Given the description of an element on the screen output the (x, y) to click on. 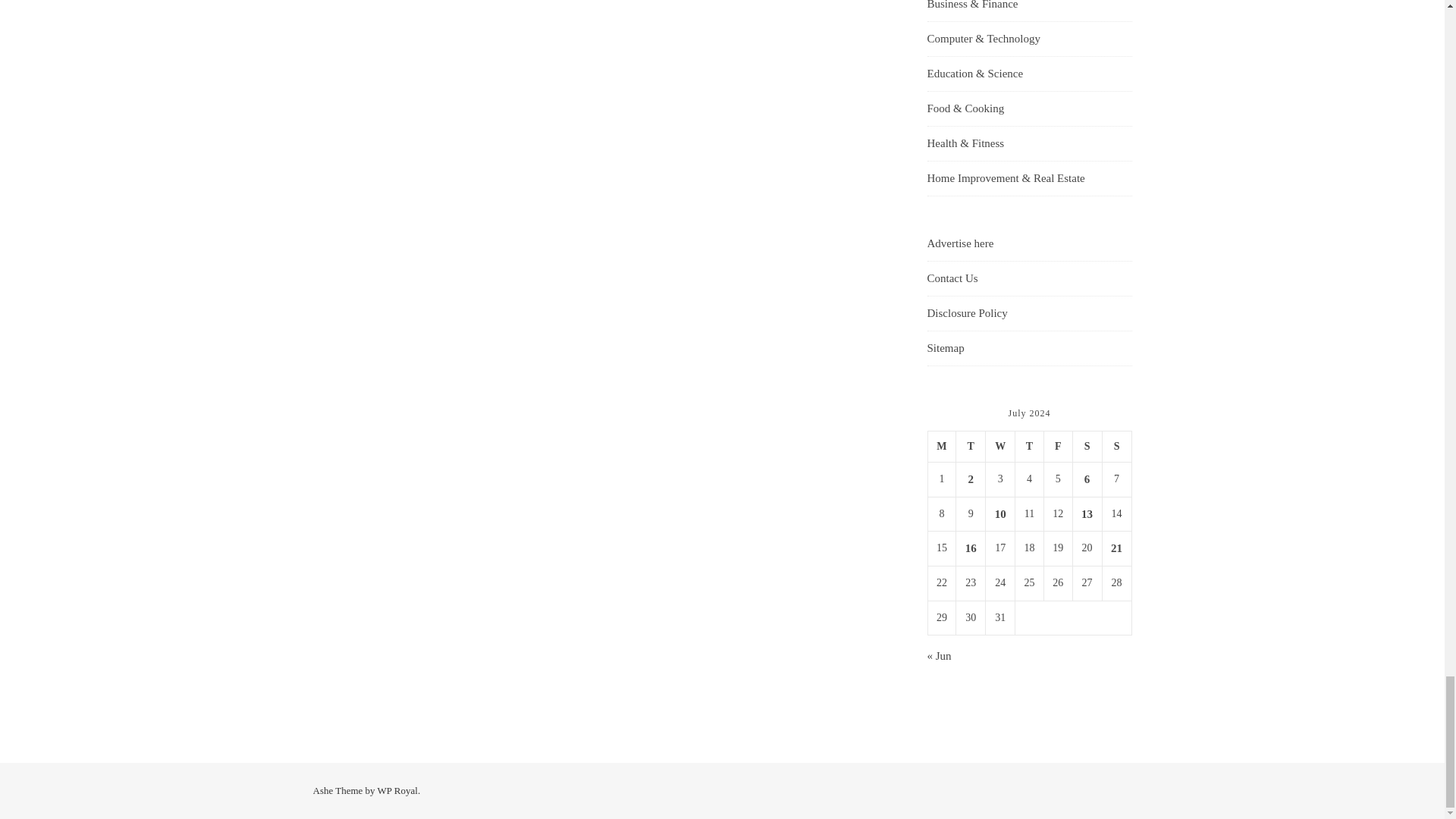
Monday (941, 446)
Wednesday (999, 446)
Thursday (1028, 446)
Tuesday (970, 446)
Friday (1057, 446)
Sunday (1116, 446)
Saturday (1086, 446)
